Given the description of an element on the screen output the (x, y) to click on. 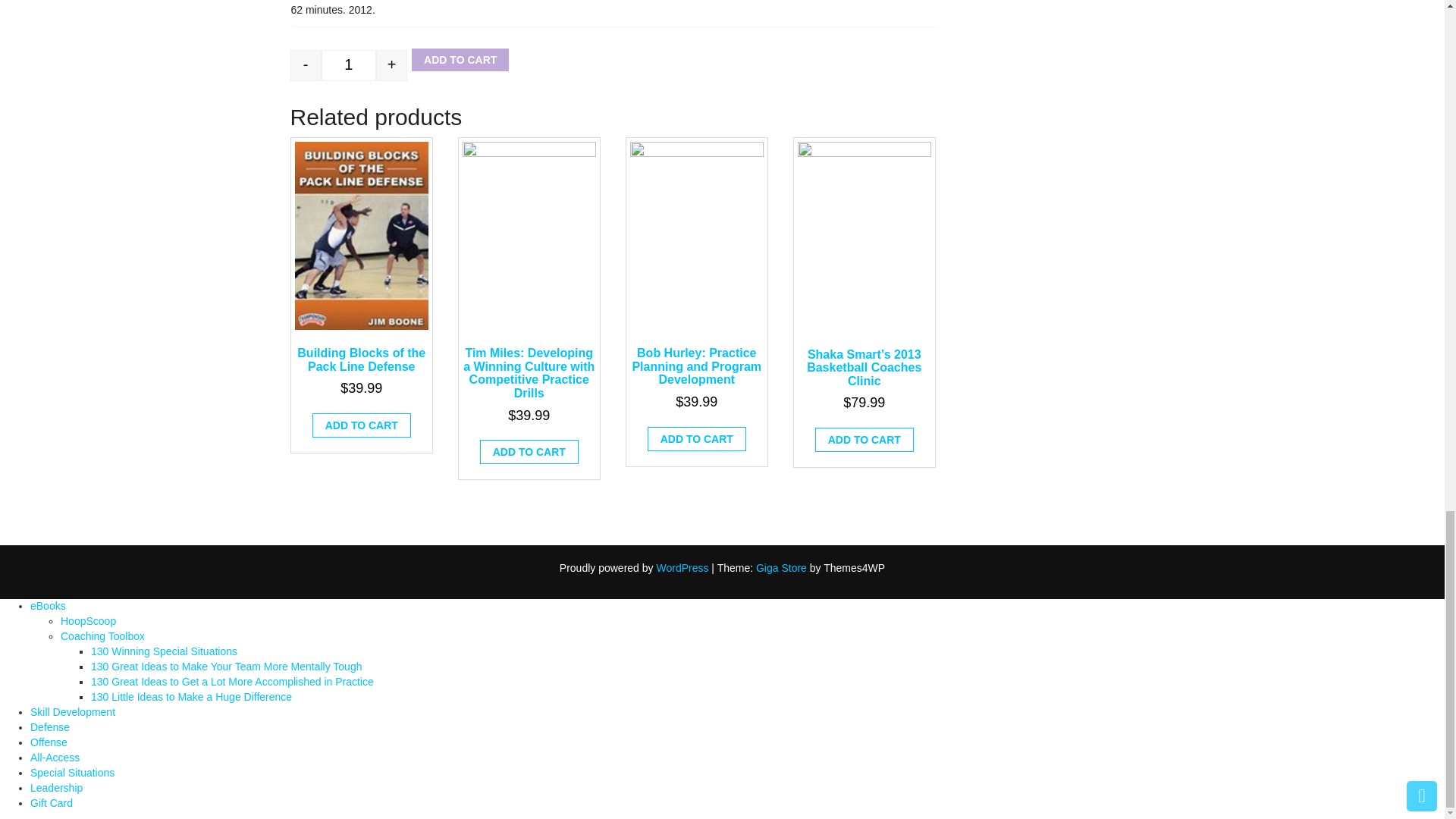
ADD TO CART (361, 425)
- (304, 65)
ADD TO CART (459, 59)
1 (349, 65)
ADD TO CART (529, 451)
